Given the description of an element on the screen output the (x, y) to click on. 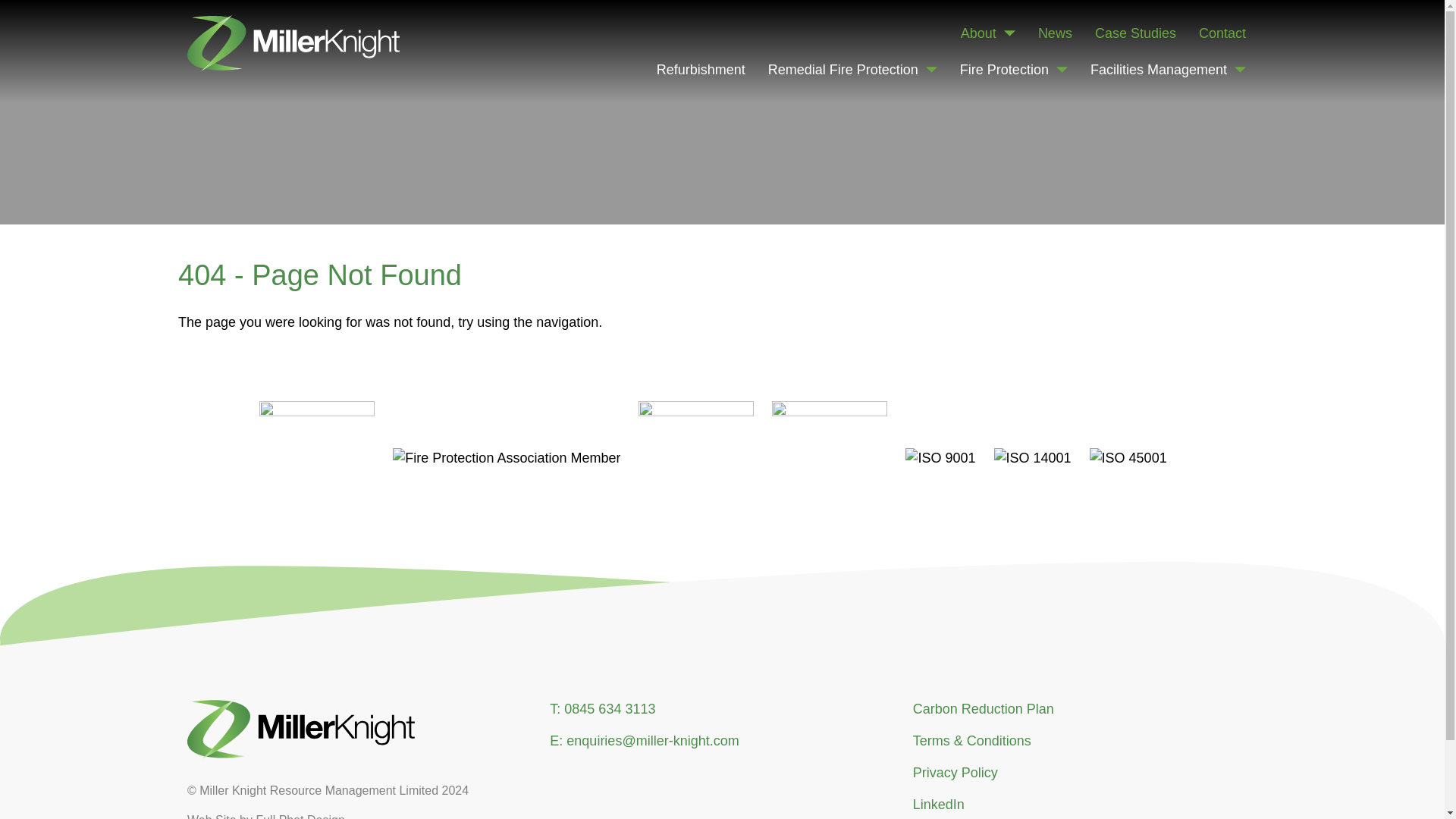
Fire Protection (1013, 69)
Contact (1222, 33)
Remedial Fire Protection (853, 69)
About (987, 33)
Case Studies (1135, 33)
Refurbishment (701, 69)
Facilities Management (1167, 69)
News (1054, 33)
